Given the description of an element on the screen output the (x, y) to click on. 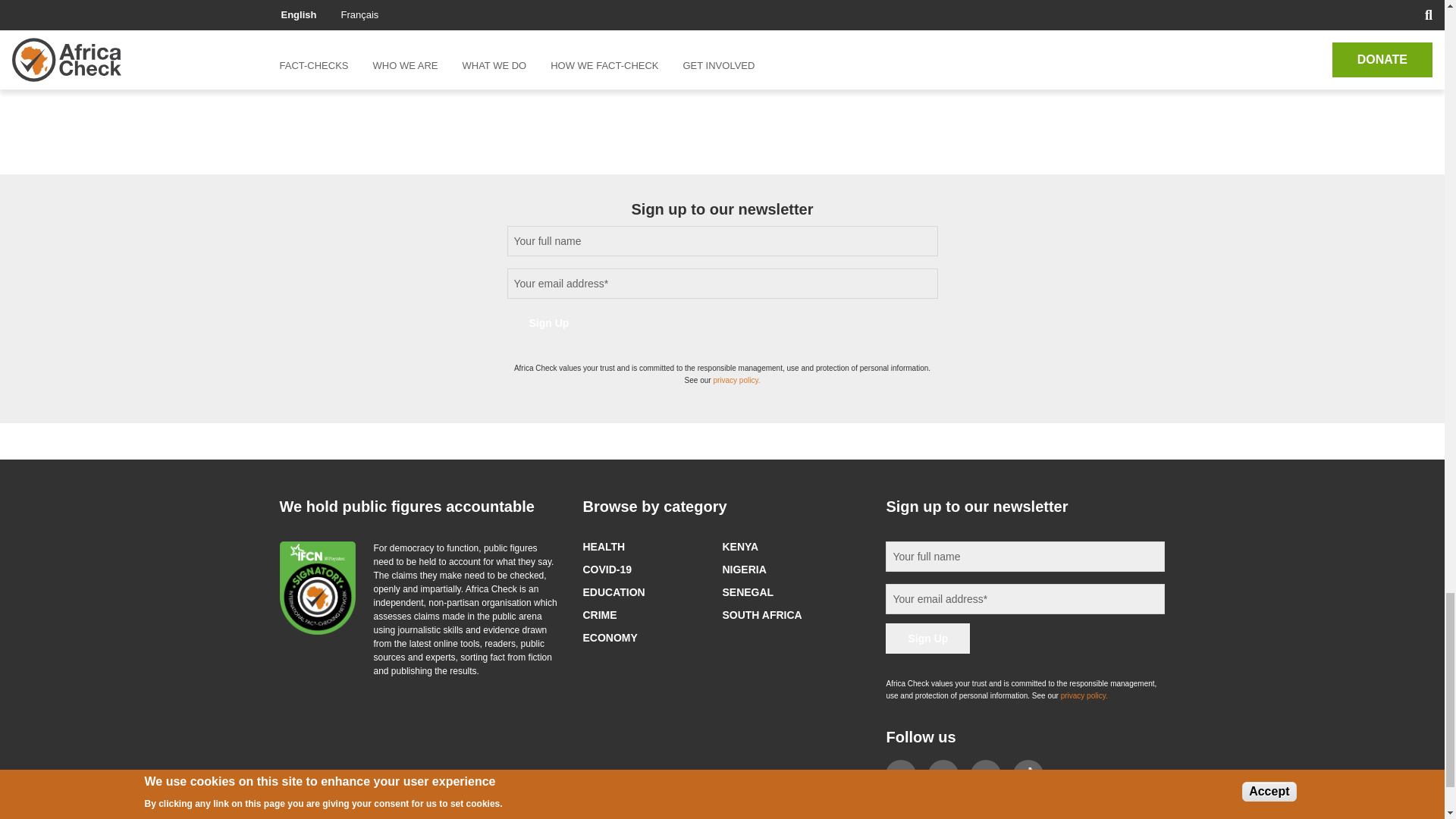
Sign Up (548, 322)
Sign Up (927, 638)
Save (319, 73)
